Given the description of an element on the screen output the (x, y) to click on. 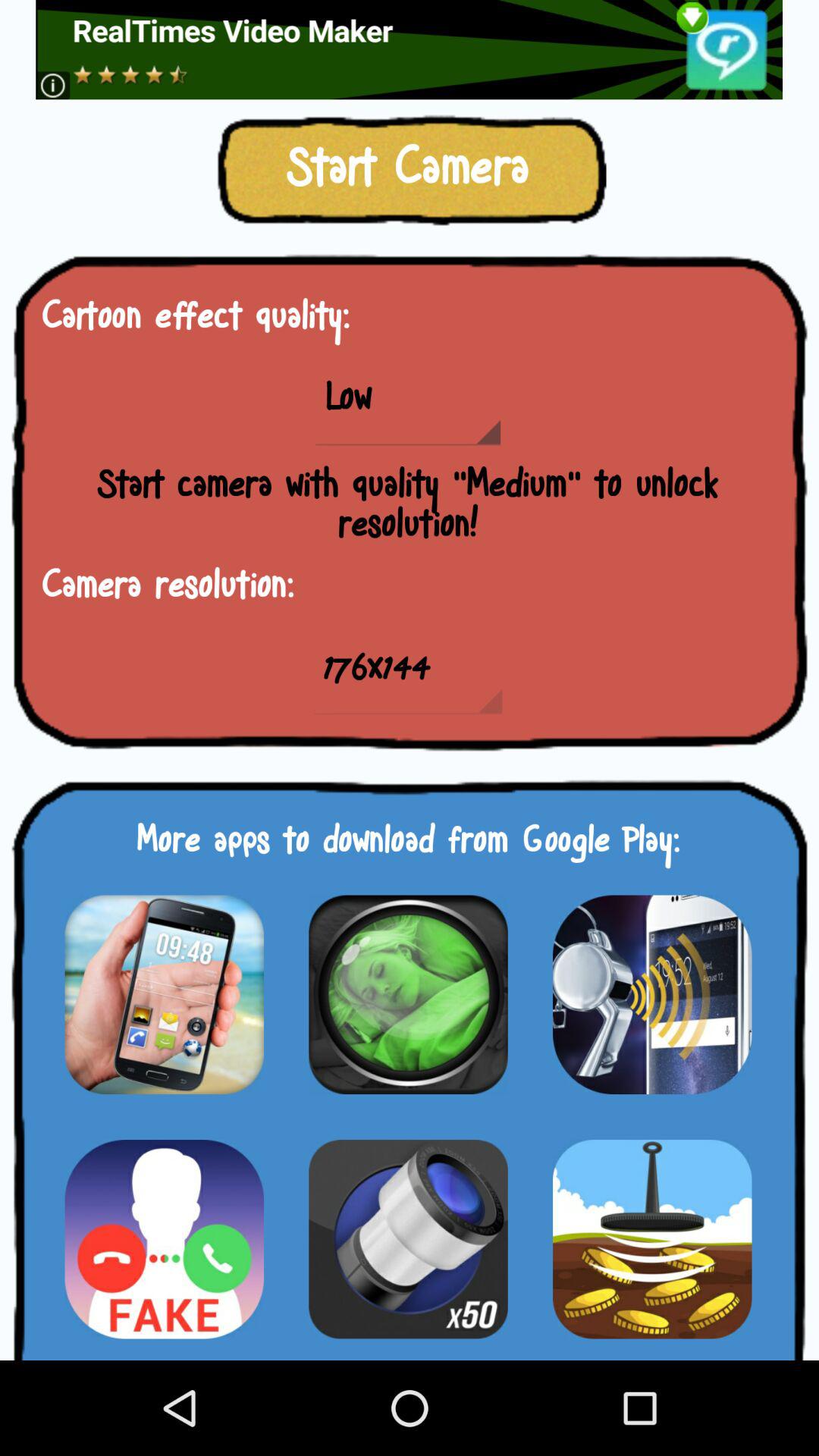
advertisement (164, 1239)
